Given the description of an element on the screen output the (x, y) to click on. 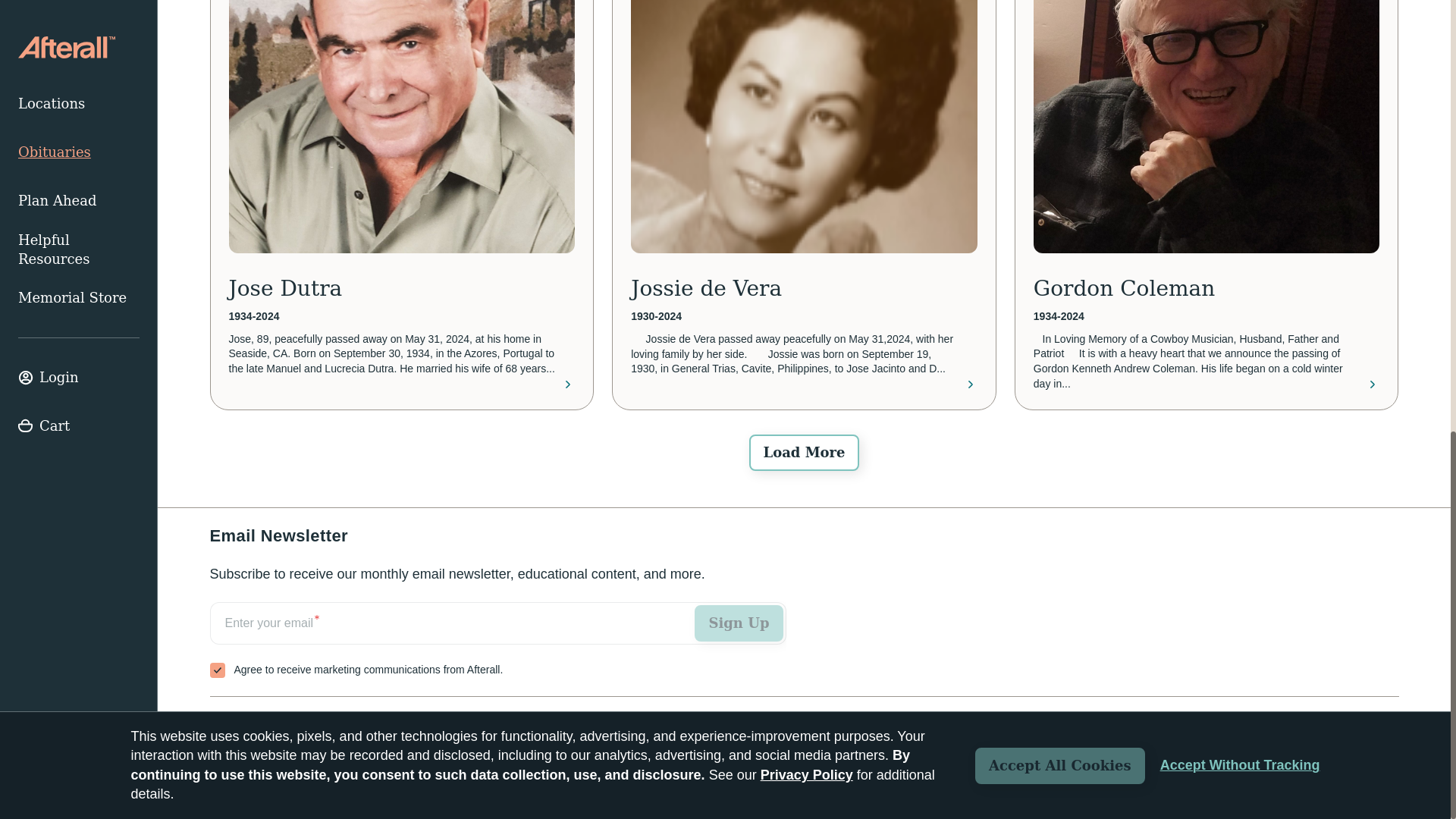
Privacy Policy (1362, 777)
Sign Up (738, 623)
Load More (804, 452)
FAQs (341, 724)
Track an Order (257, 724)
Email Newsletter (497, 639)
